Given the description of an element on the screen output the (x, y) to click on. 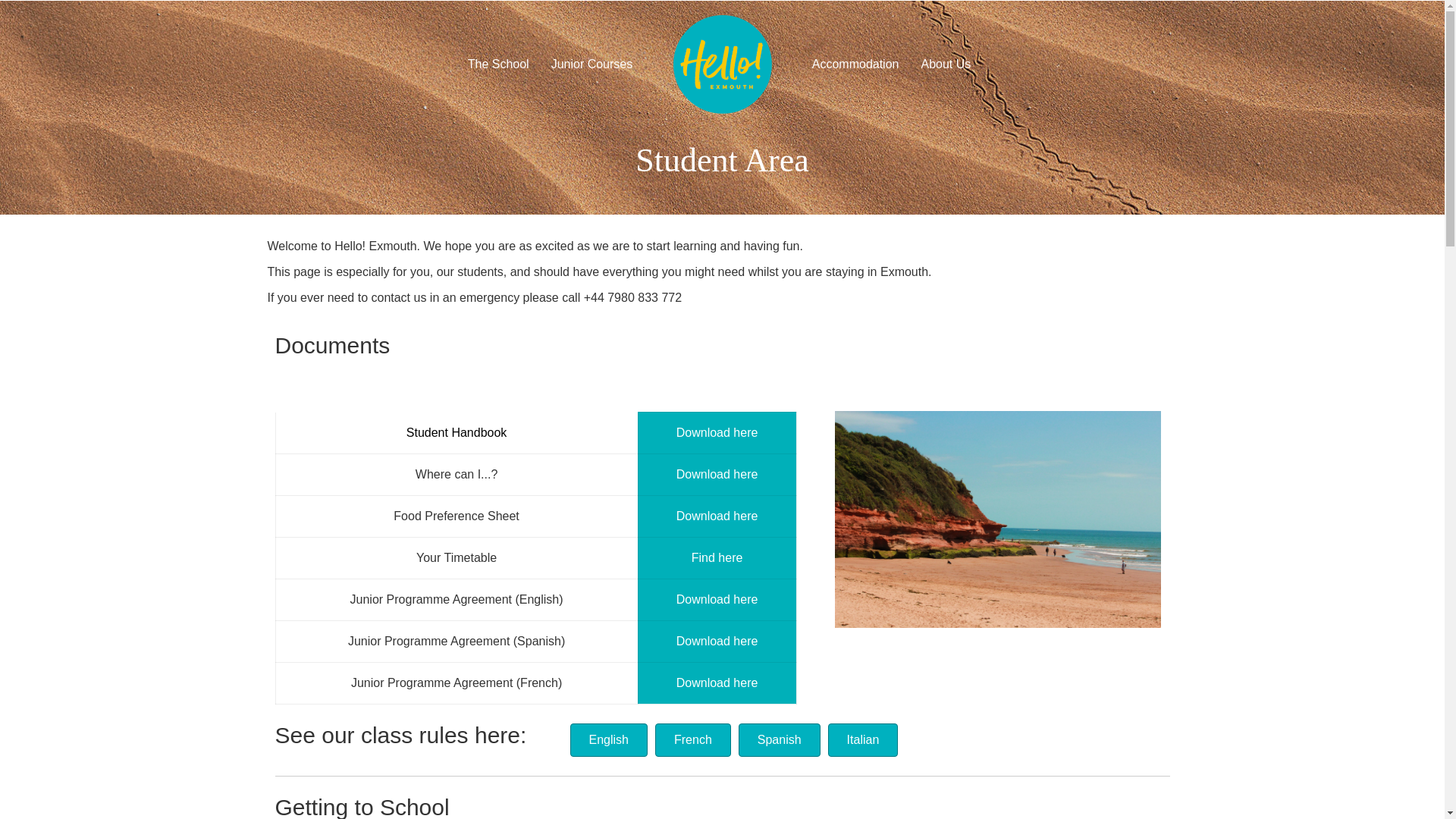
The School (498, 64)
Hello! Exmouth icon (721, 64)
About Us (945, 64)
Junior Courses (591, 64)
Accommodation (856, 64)
